Given the description of an element on the screen output the (x, y) to click on. 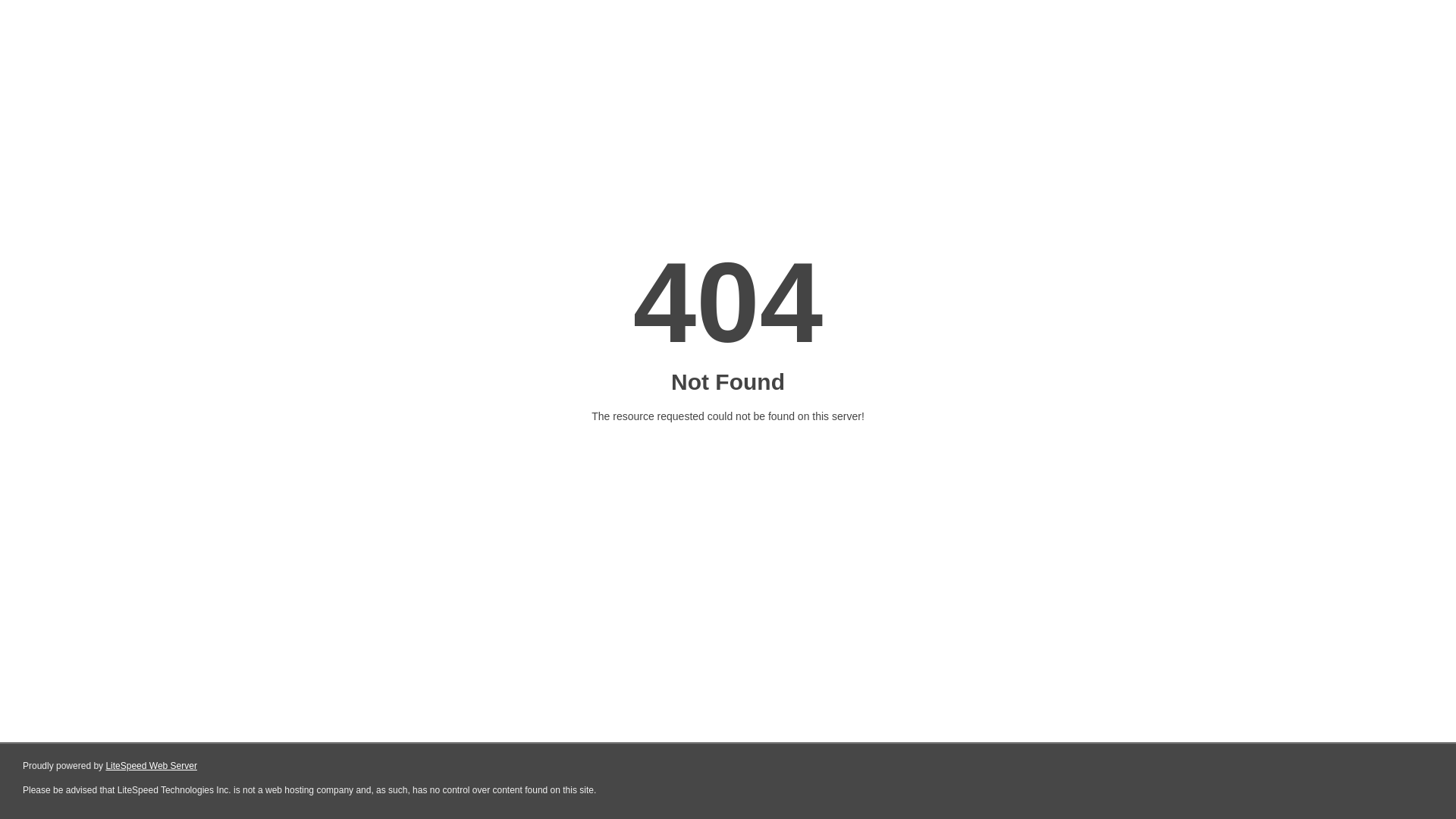
LiteSpeed Web Server Element type: text (151, 765)
